Given the description of an element on the screen output the (x, y) to click on. 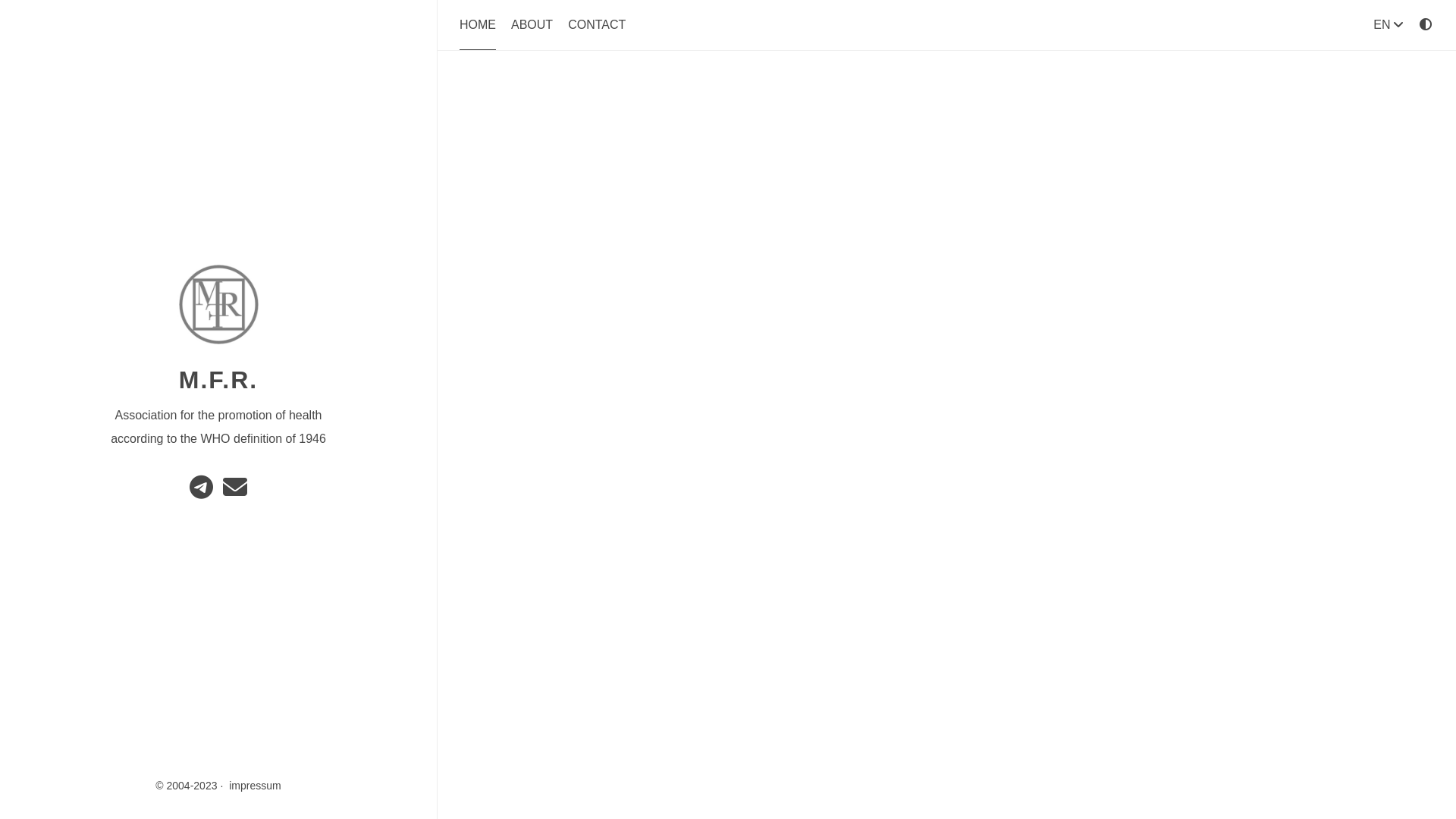
Switch Theme Element type: hover (1425, 24)
impressum Element type: text (254, 785)
e-mail Element type: hover (234, 491)
HOME Element type: text (477, 34)
M.F.R. Element type: text (217, 379)
ABOUT Element type: text (531, 24)
CONTACT Element type: text (596, 24)
telegram Element type: hover (202, 491)
